Given the description of an element on the screen output the (x, y) to click on. 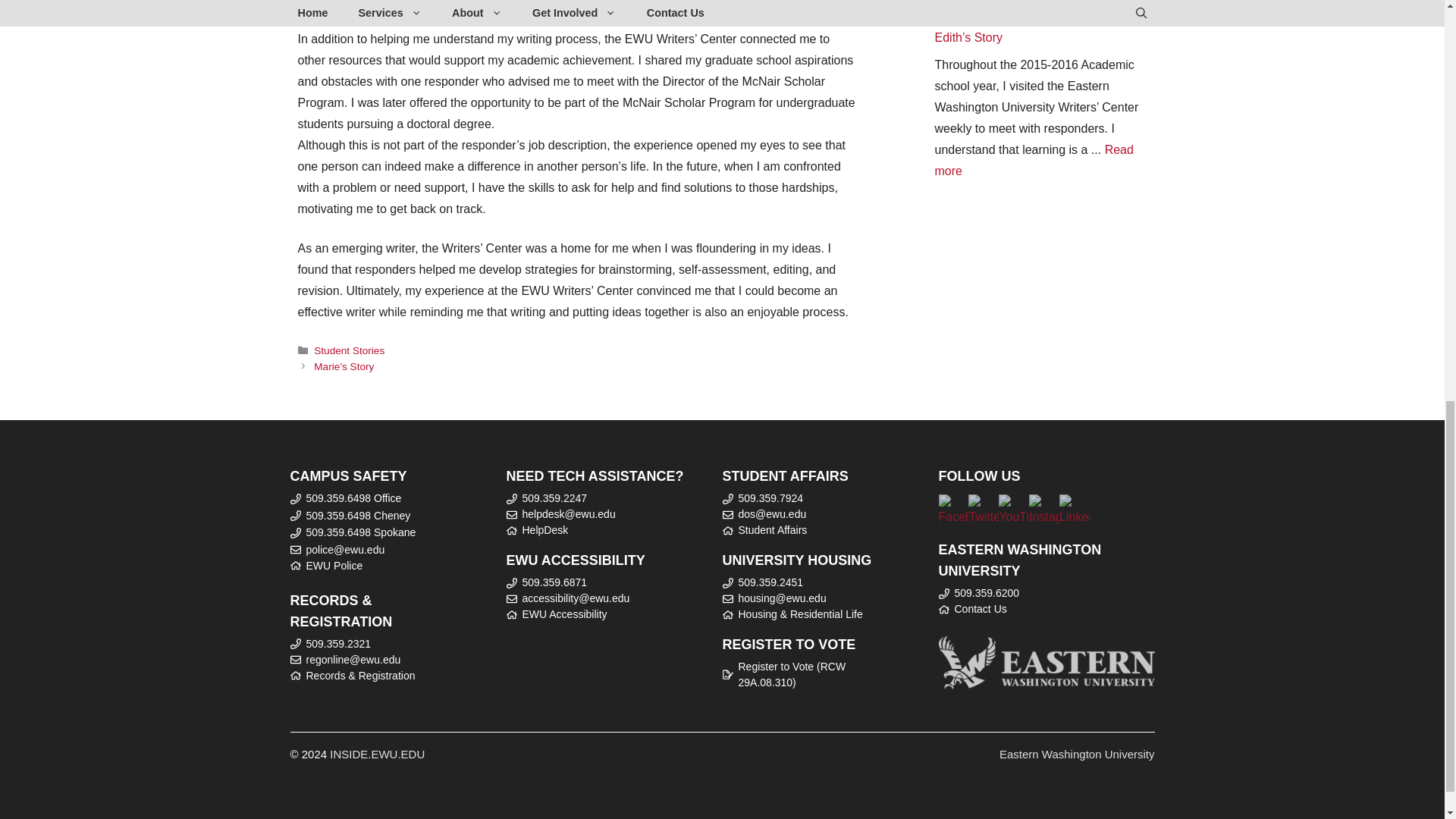
509.359.6498 Spokane (360, 532)
Scroll back to top (1390, 705)
EWU Police (333, 565)
Student Stories (349, 350)
509.359.6498 Office (353, 498)
509.359.2321 (338, 644)
Read more (1033, 160)
509.359.6498 Cheney (357, 515)
